Given the description of an element on the screen output the (x, y) to click on. 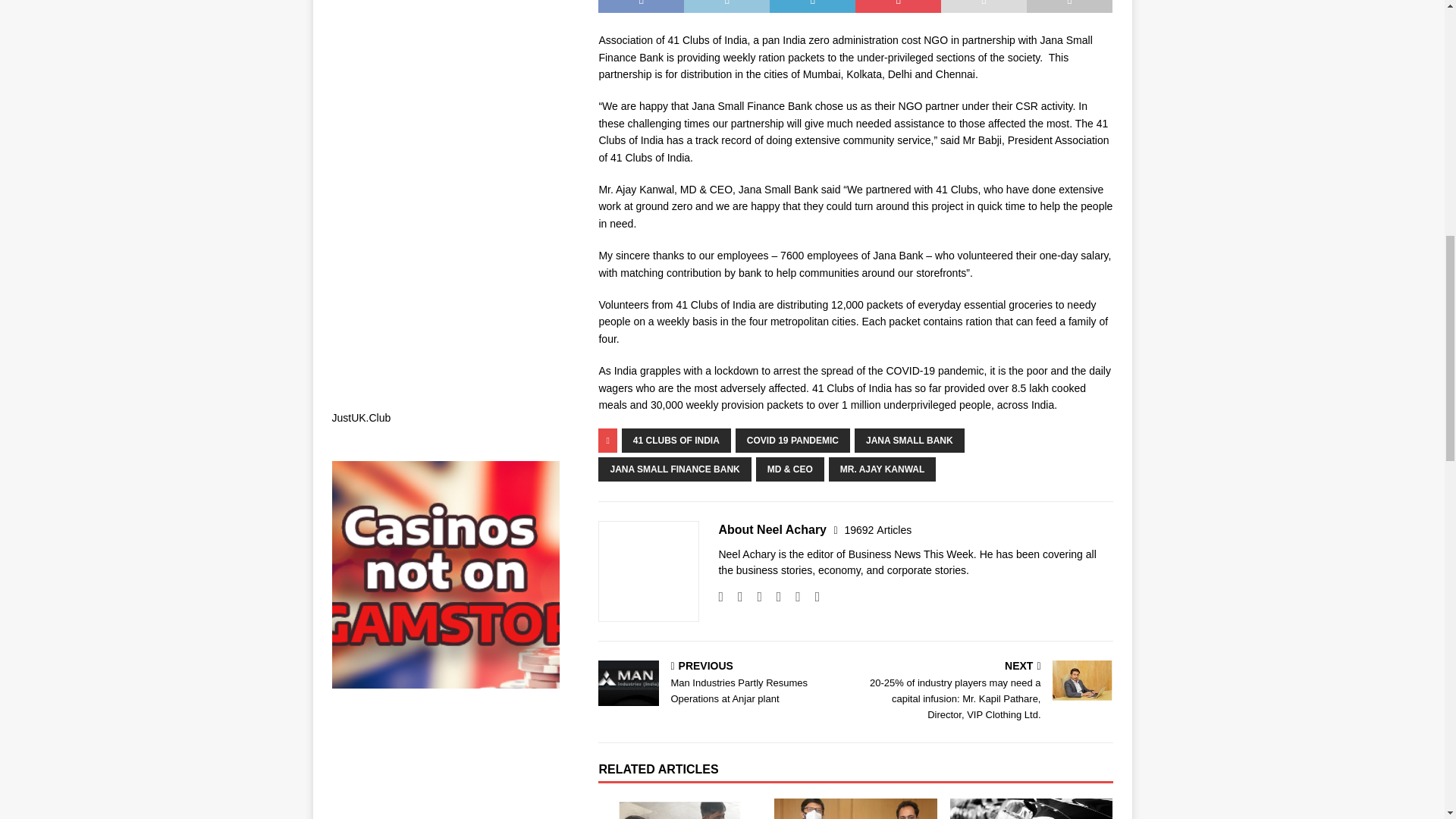
41 CLUBS OF INDIA (675, 440)
COVID 19 PANDEMIC (792, 440)
Follow Neel Achary on Facebook (734, 596)
Follow Neel Achary on Instagram (753, 596)
More articles written by Neel Achary' (877, 530)
JANA SMALL BANK (908, 440)
